Given the description of an element on the screen output the (x, y) to click on. 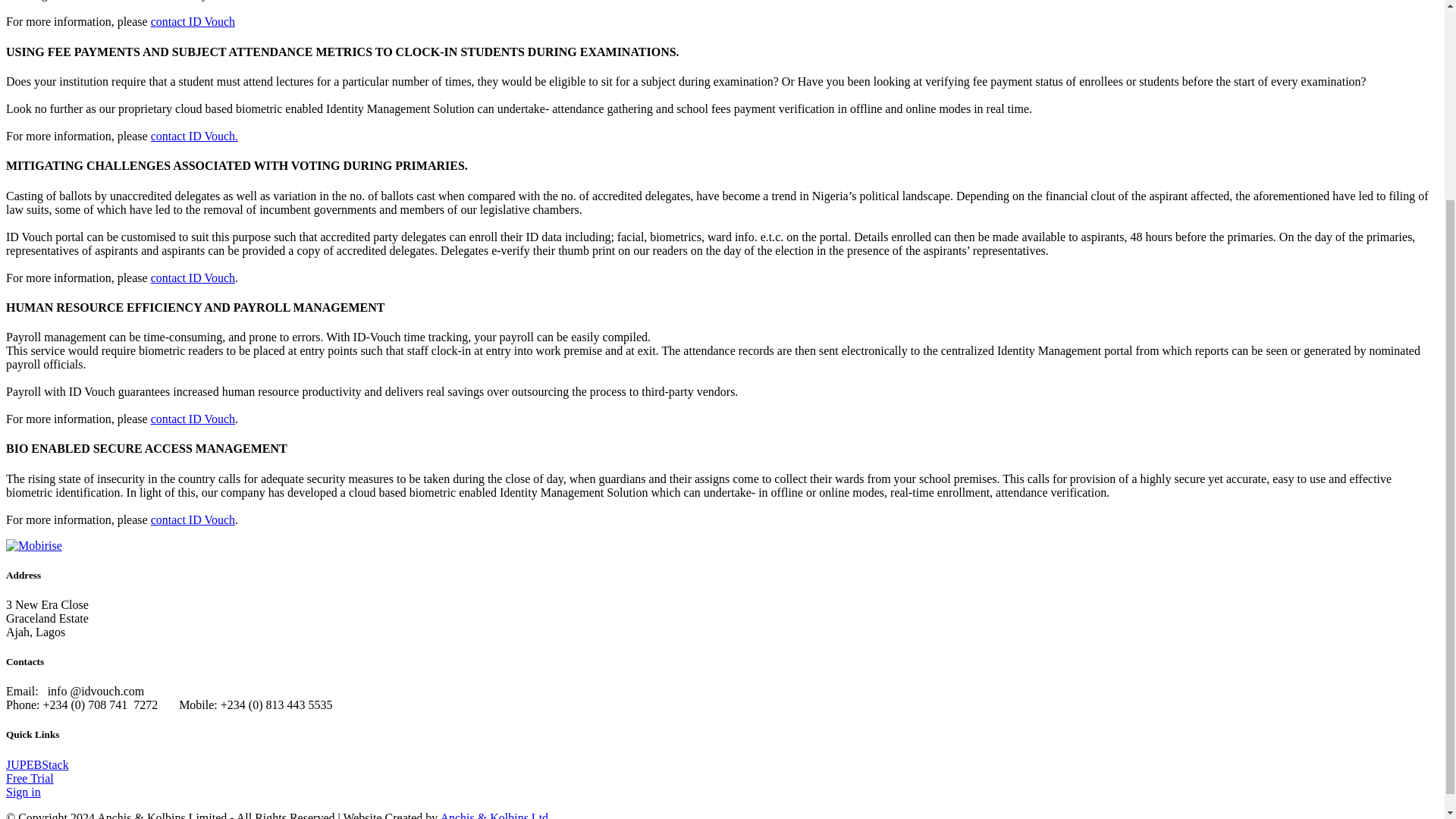
contact ID Vouch (192, 21)
contact ID Vouch (192, 418)
contact ID Vouch (192, 277)
JUPEBStack (36, 764)
contact ID Vouch (192, 519)
contact ID Vouch. (194, 135)
Free Trial (29, 778)
Sign in (22, 791)
